Given the description of an element on the screen output the (x, y) to click on. 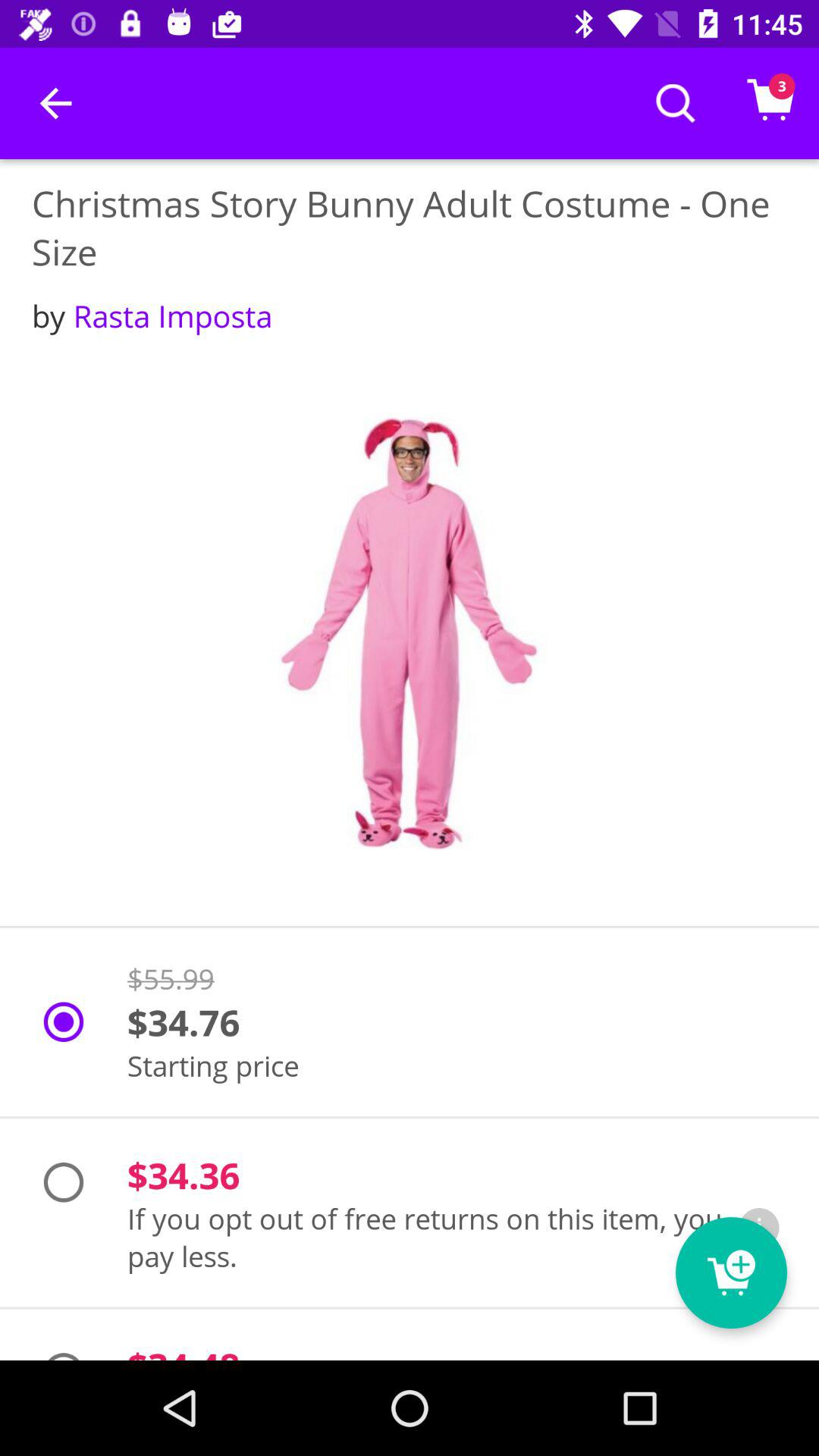
picture of the costume (409, 633)
